Given the description of an element on the screen output the (x, y) to click on. 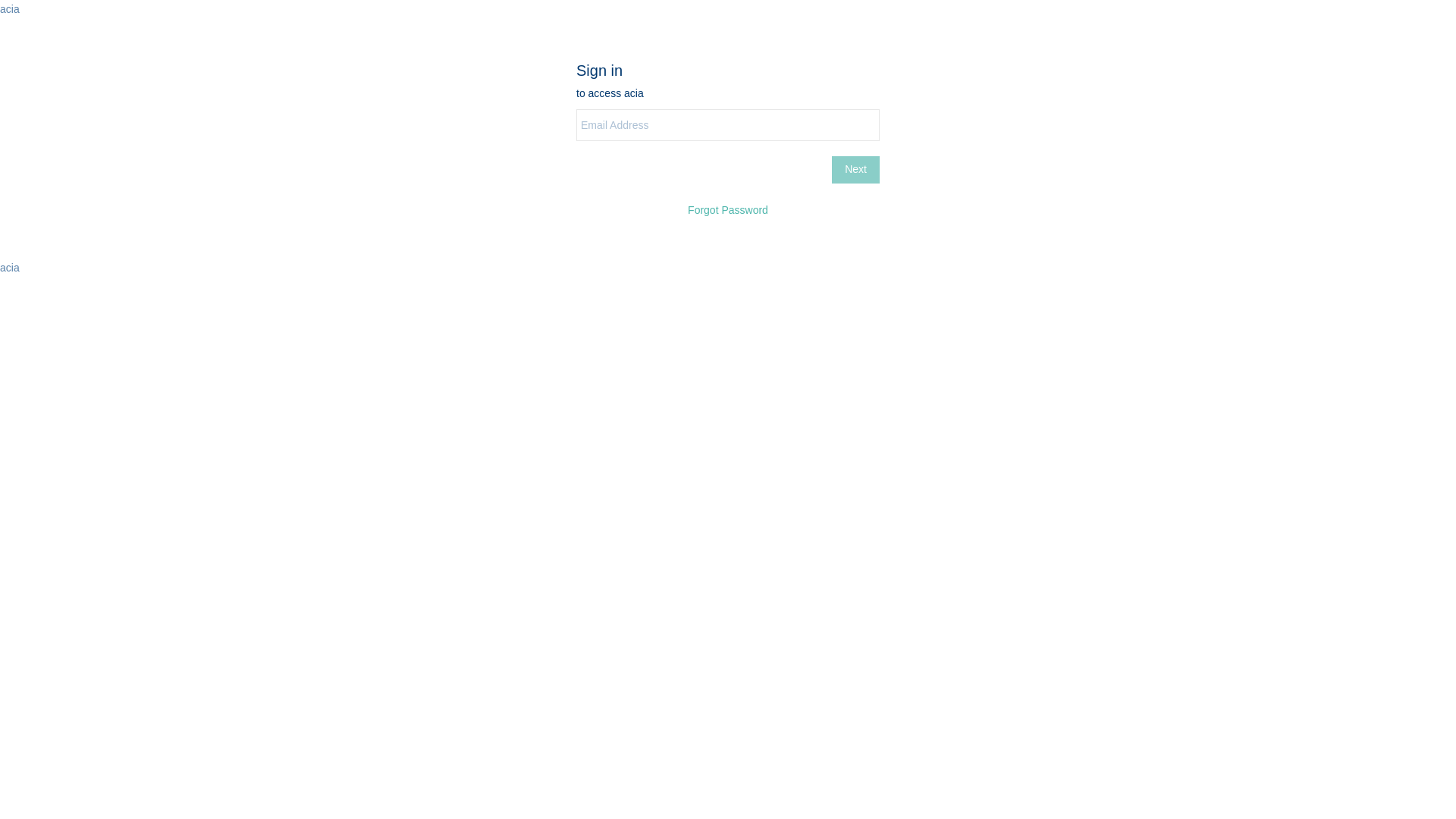
Forgot Password Element type: text (727, 209)
